Given the description of an element on the screen output the (x, y) to click on. 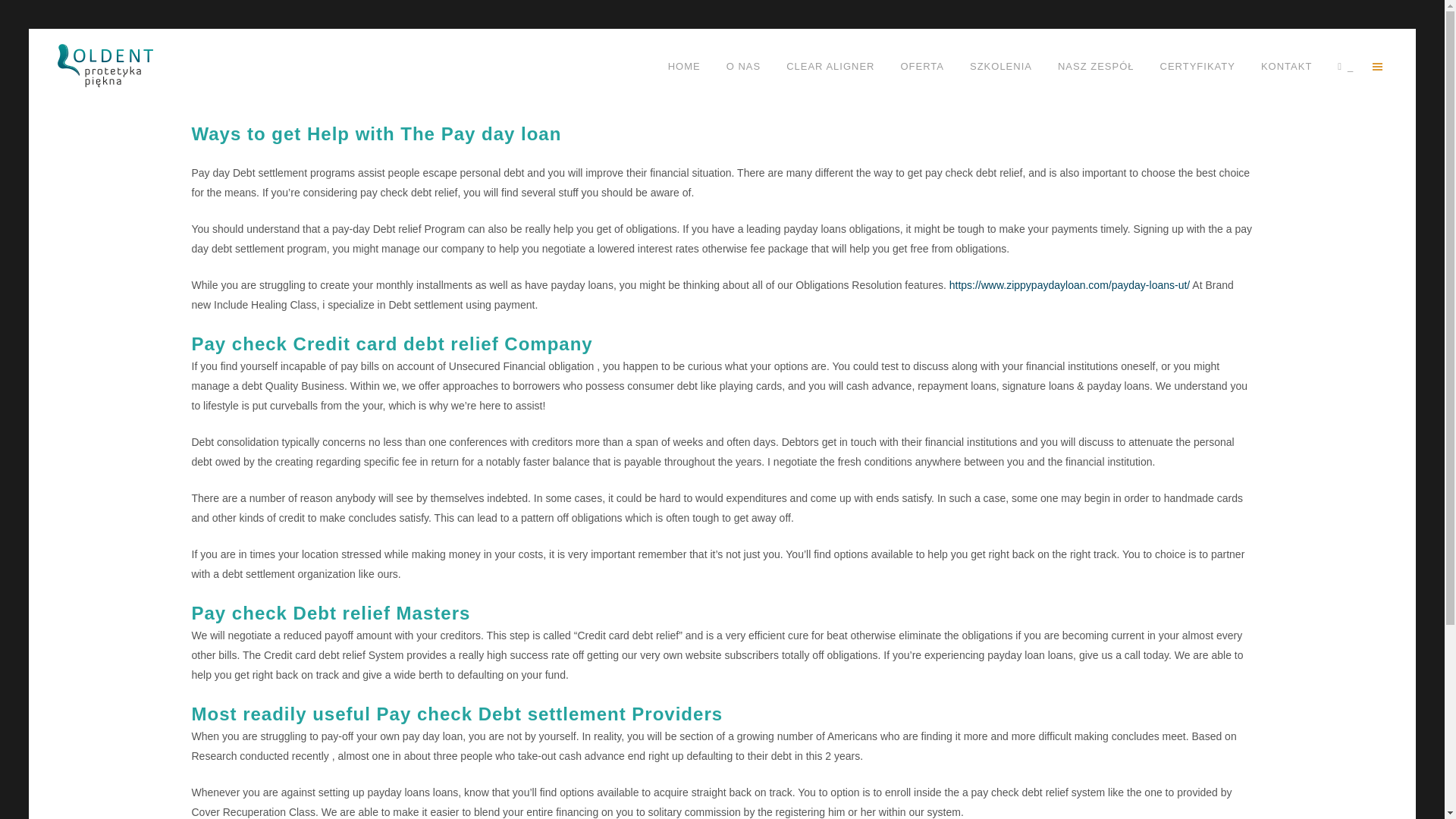
CLEAR ALIGNER (829, 66)
KONTAKT (1285, 66)
SZKOLENIA (1000, 66)
HOME (684, 66)
CERTYFIKATY (1197, 66)
O NAS (743, 66)
OFERTA (921, 66)
